Given the description of an element on the screen output the (x, y) to click on. 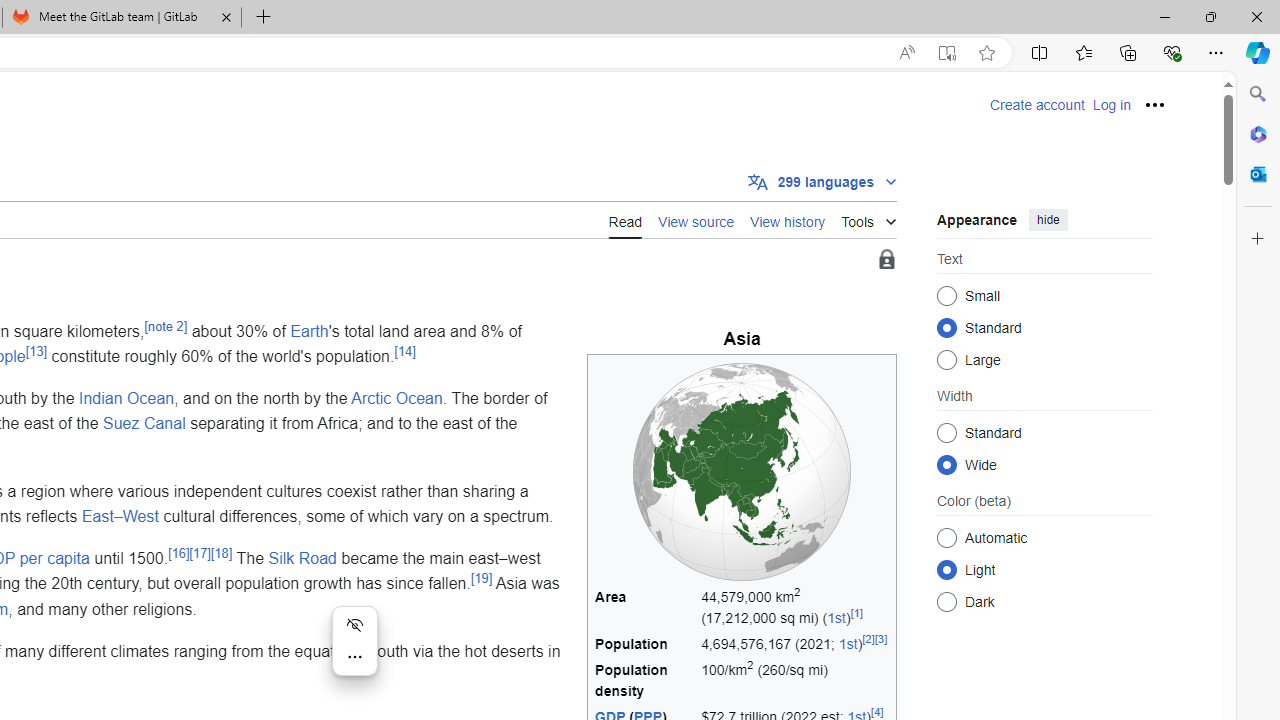
Light (946, 569)
Page semi-protected (886, 259)
Personal tools (1155, 104)
Automatic (946, 537)
Read (625, 219)
Silk Road (301, 557)
Wide (946, 464)
Class: mw-list-item mw-list-item-js (1044, 569)
View source (695, 219)
Area (645, 607)
Tools (868, 218)
[4] (877, 712)
Read (625, 219)
